Given the description of an element on the screen output the (x, y) to click on. 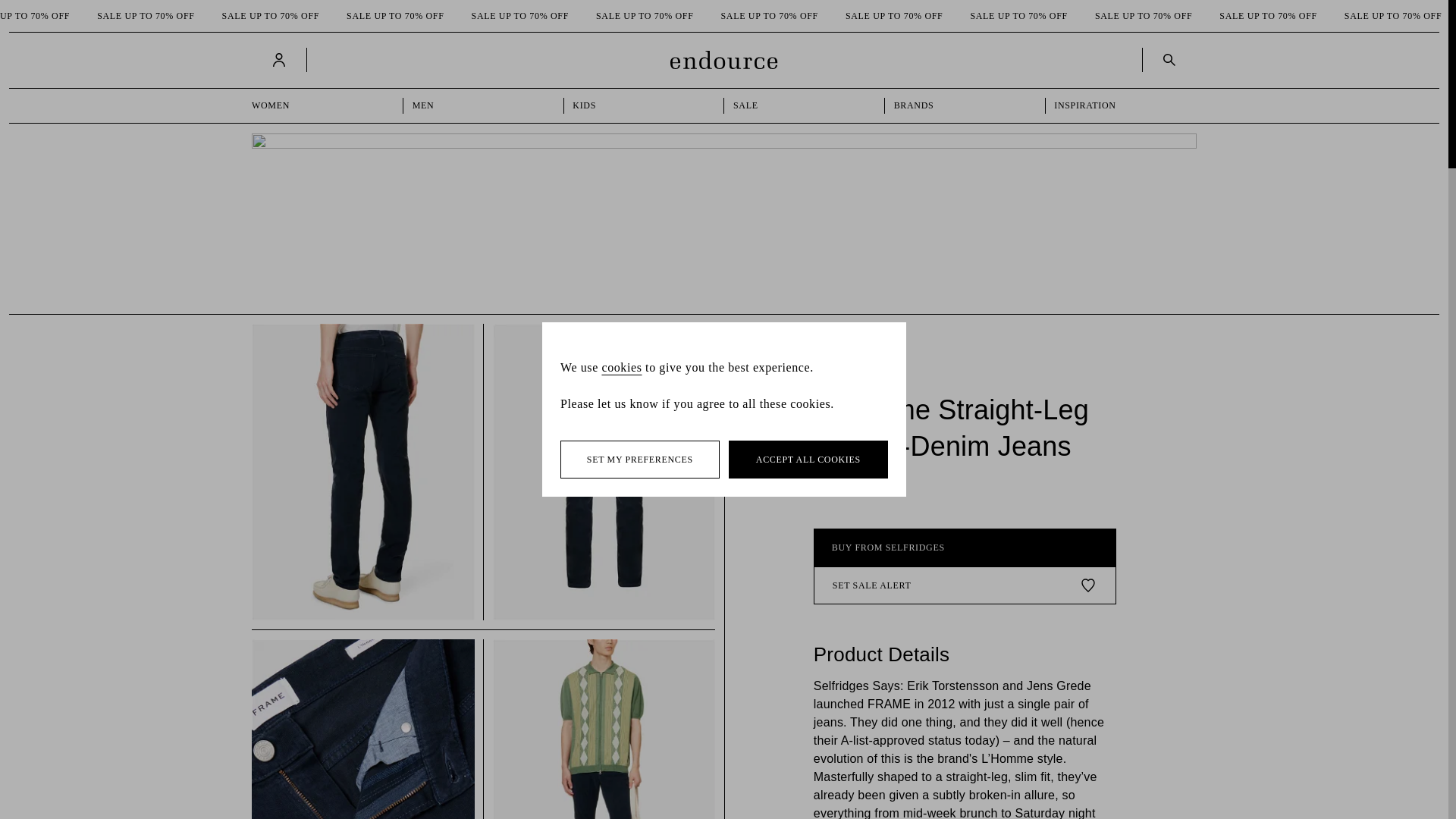
Search (1166, 59)
ACCOUNT (281, 59)
Account (278, 59)
Search (1168, 59)
WOMEN (323, 105)
